Given the description of an element on the screen output the (x, y) to click on. 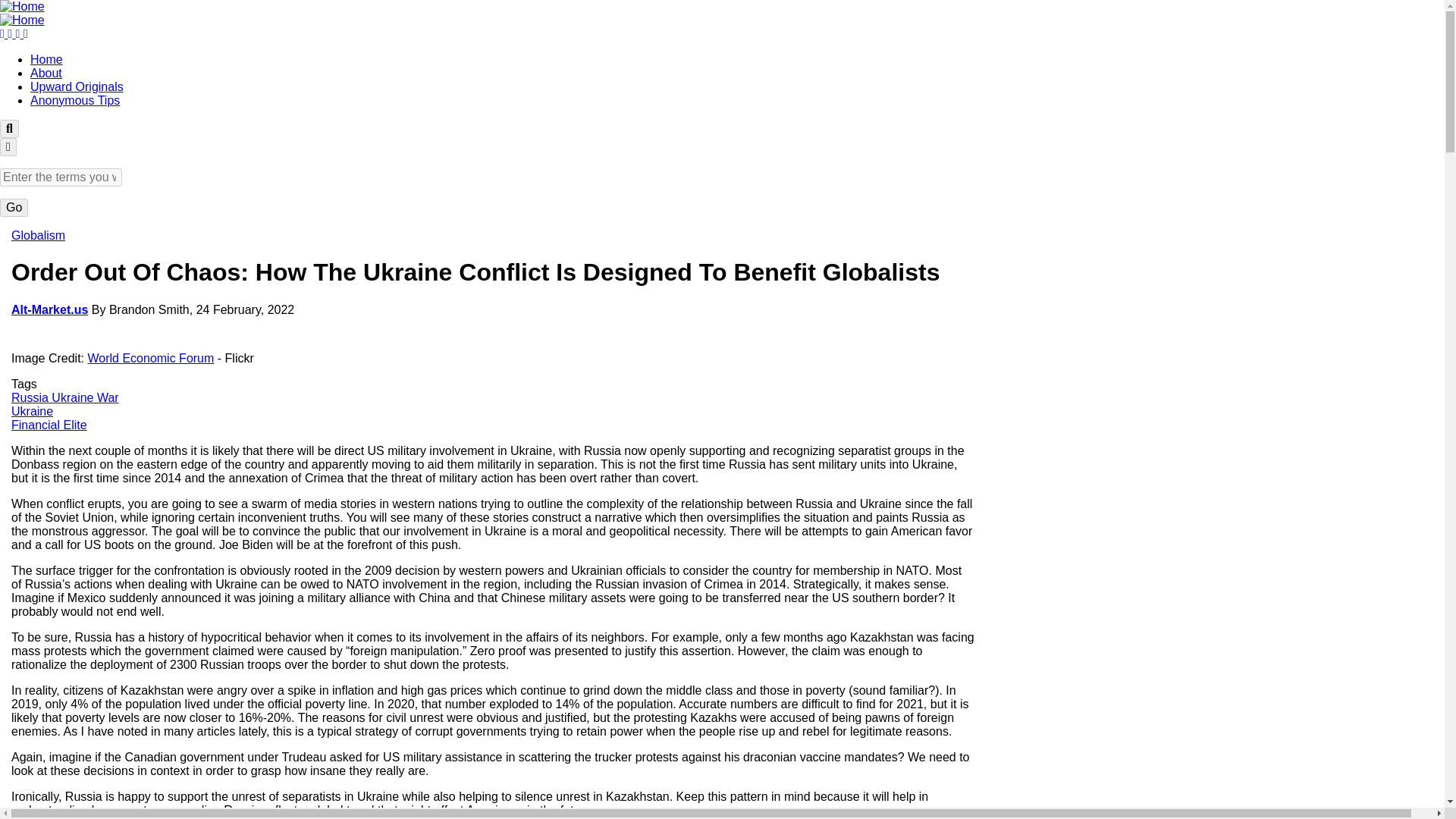
Alt-Market.us (49, 309)
Upward Originals (76, 86)
Go (13, 208)
Ukraine (31, 410)
Financial Elite (49, 424)
Go (13, 208)
About (46, 72)
Anonymous Tips (74, 100)
Globalism (38, 235)
Go to World Economic Forum's photostream (150, 358)
